Given the description of an element on the screen output the (x, y) to click on. 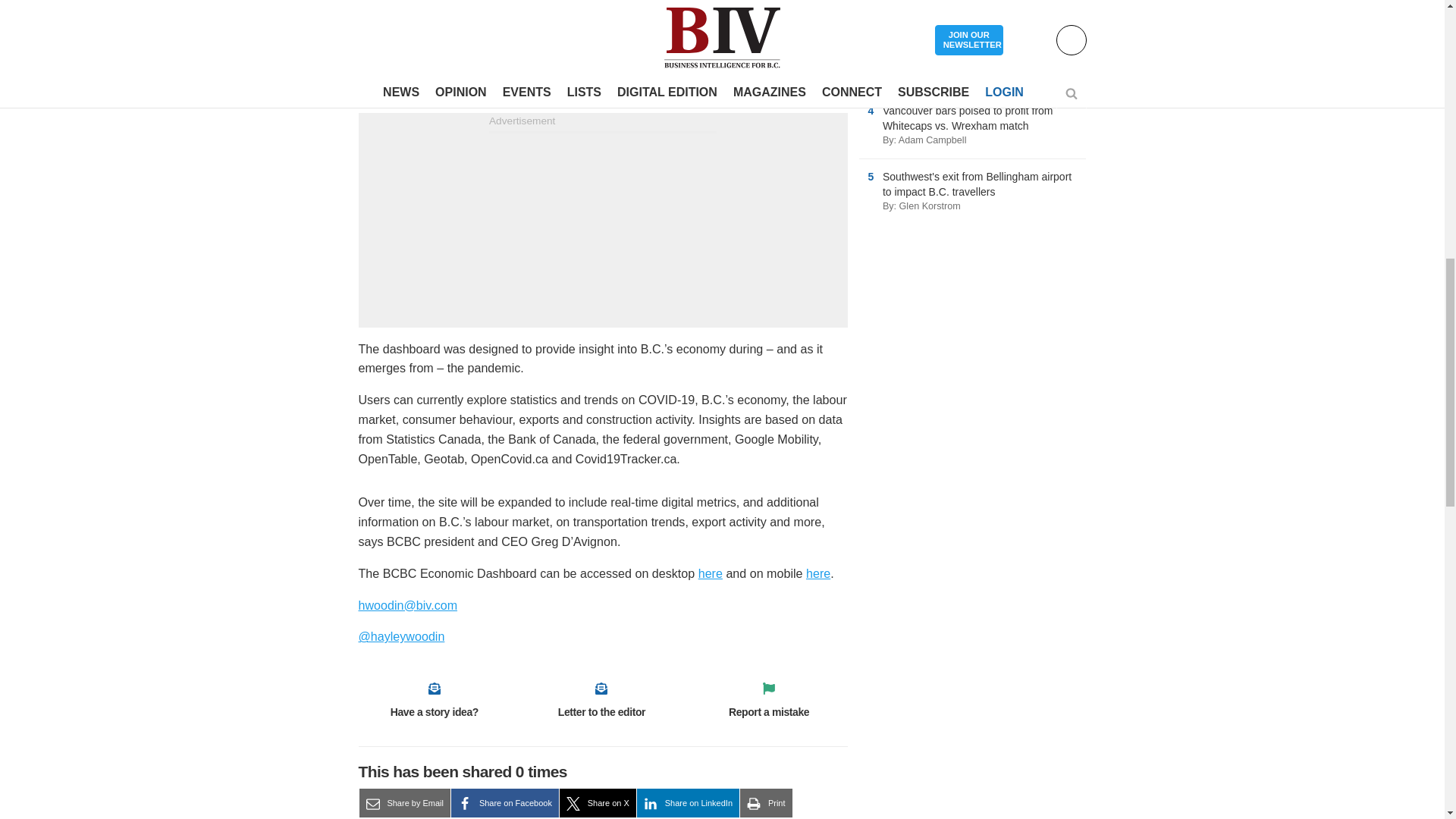
3rd party ad content (602, 227)
